Given the description of an element on the screen output the (x, y) to click on. 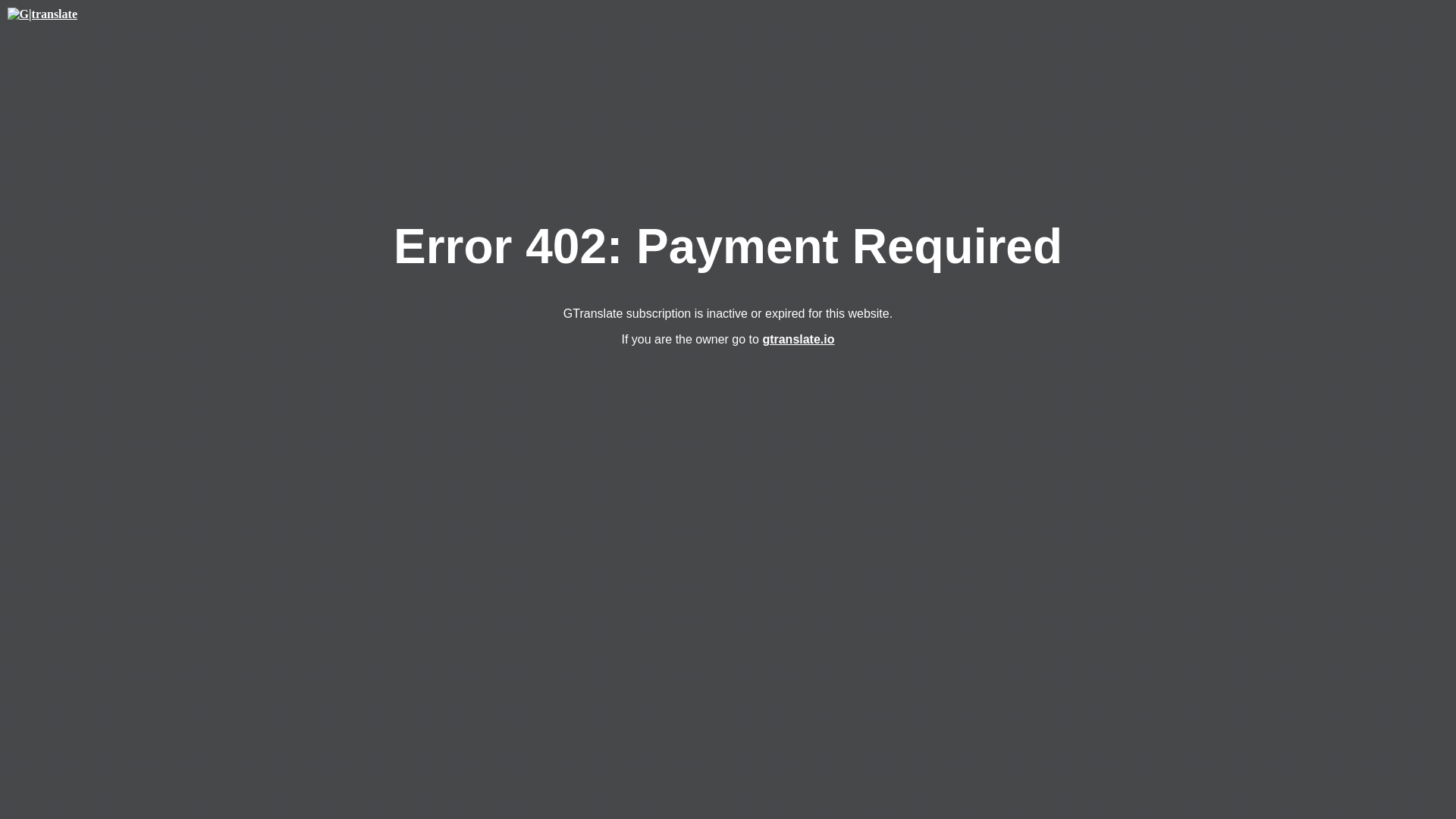
gtranslate.io (797, 338)
